Given the description of an element on the screen output the (x, y) to click on. 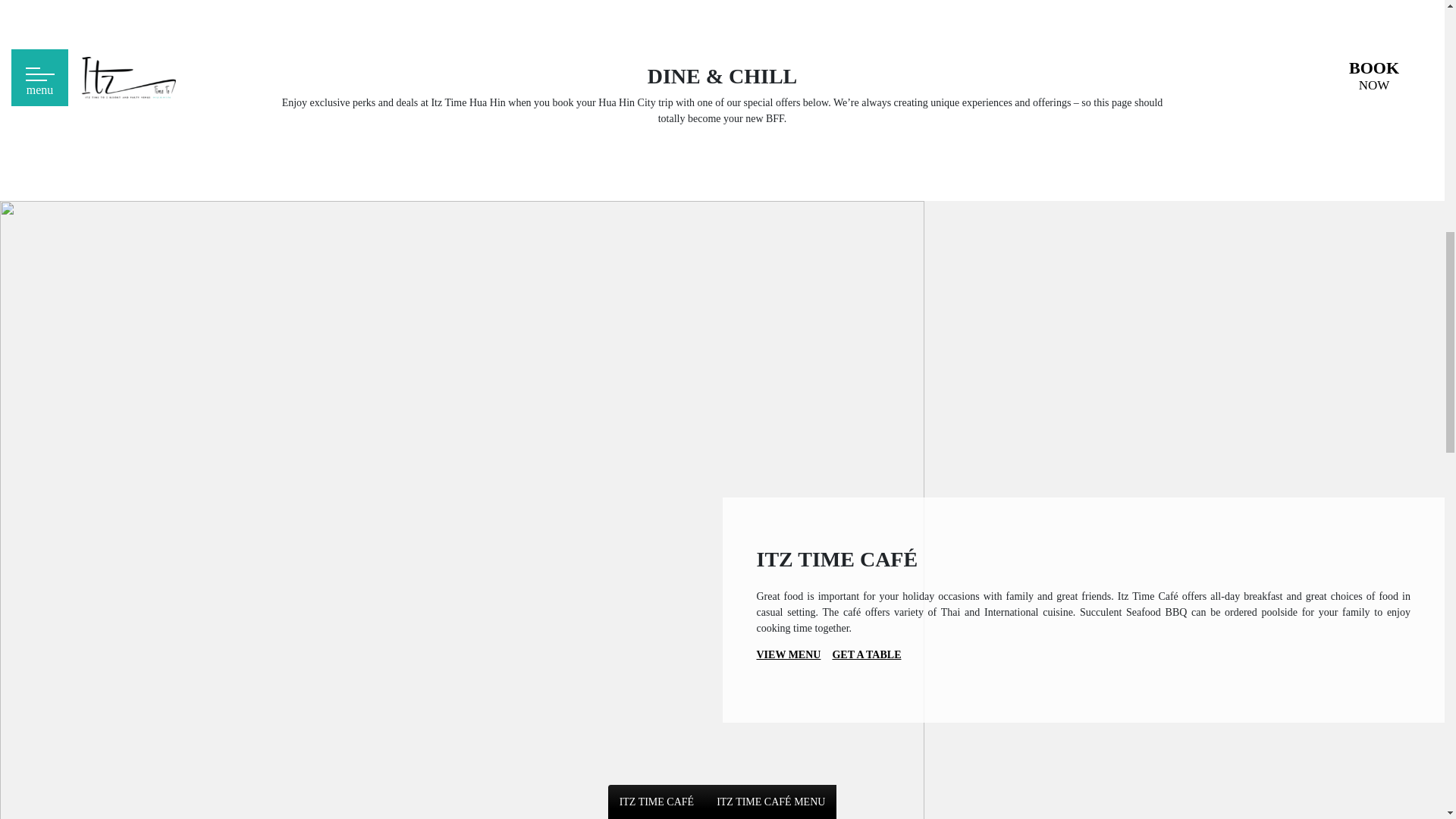
GET A TABLE (866, 654)
VIEW MENU (789, 654)
